Given the description of an element on the screen output the (x, y) to click on. 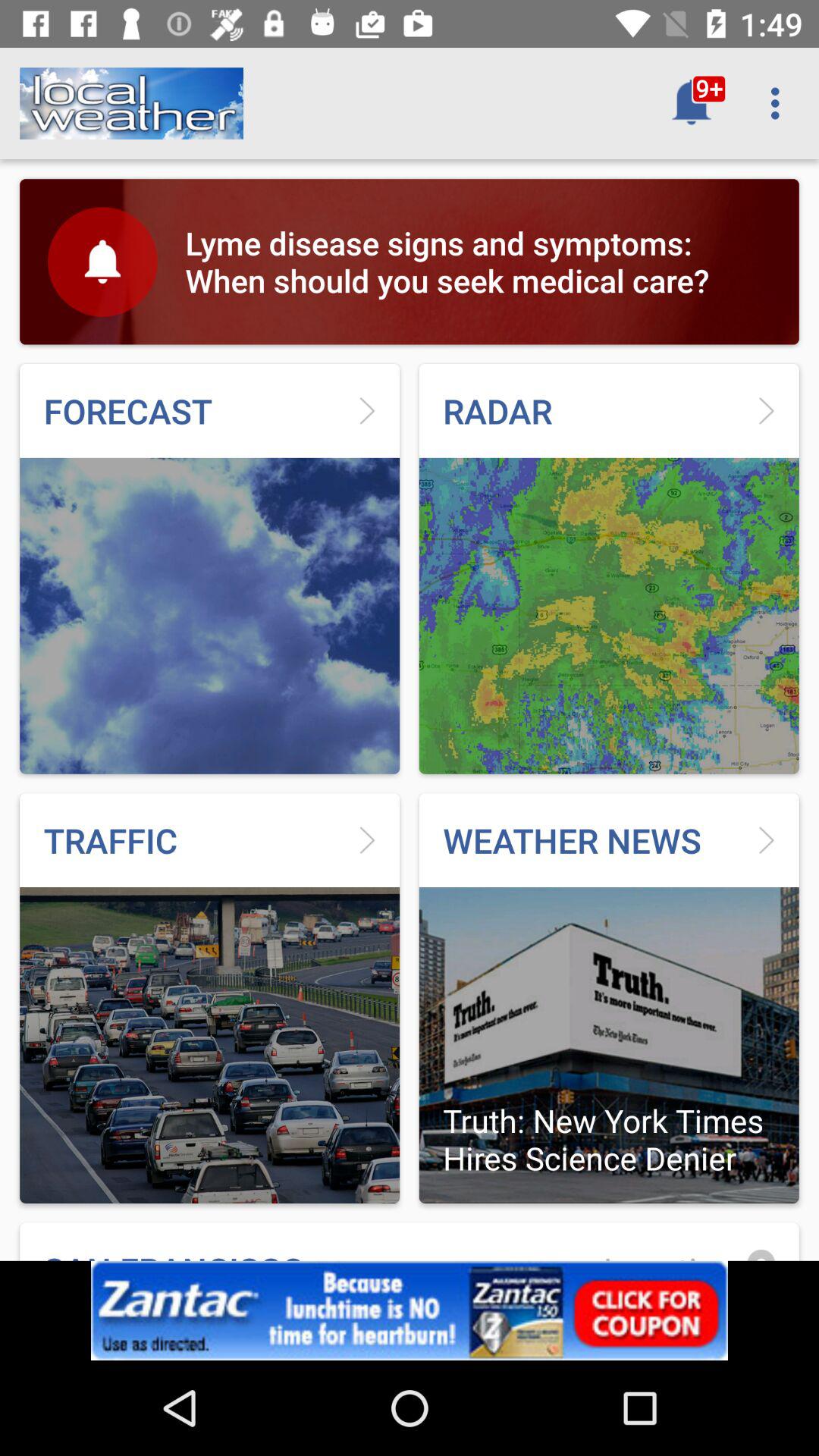
improper tagging (409, 102)
select the image which is above traffic on the page (209, 569)
